Given the description of an element on the screen output the (x, y) to click on. 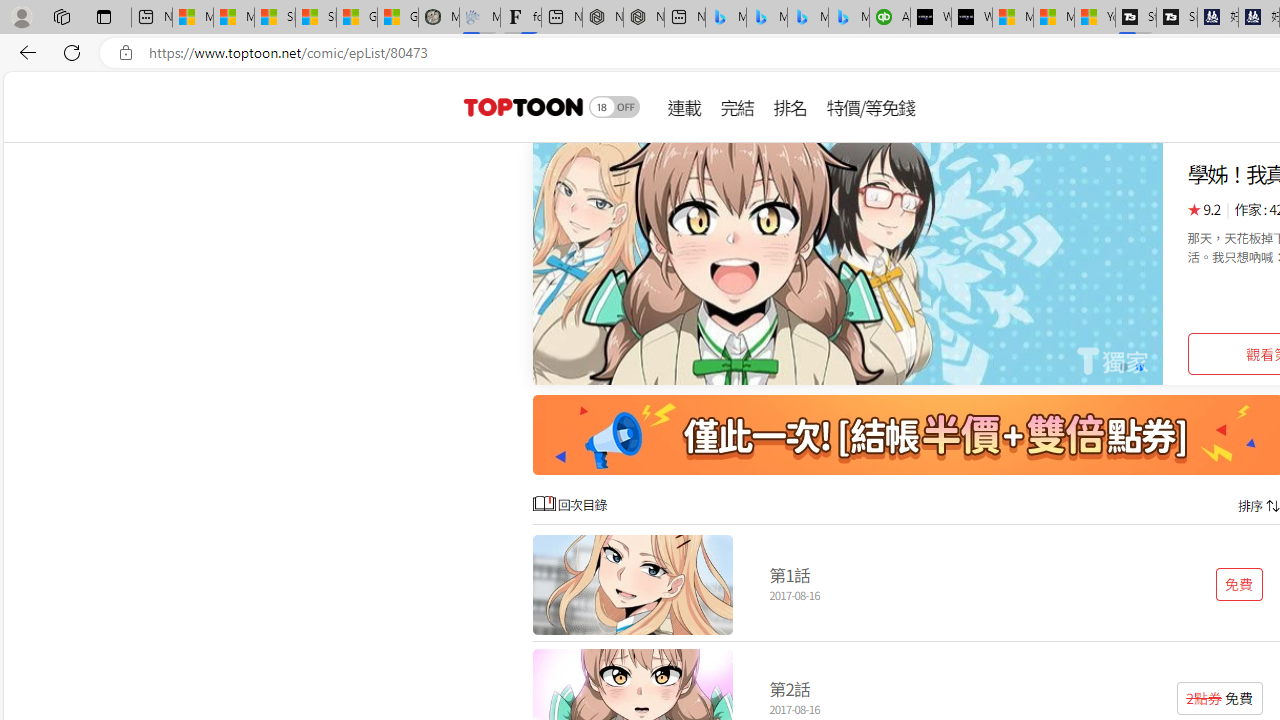
Accounting Software for Accountants, CPAs and Bookkeepers (890, 17)
Microsoft Bing Travel - Stays in Bangkok, Bangkok, Thailand (767, 17)
Manatee Mortality Statistics | FWC (438, 17)
Go to slide 1 (1122, 366)
